Given the description of an element on the screen output the (x, y) to click on. 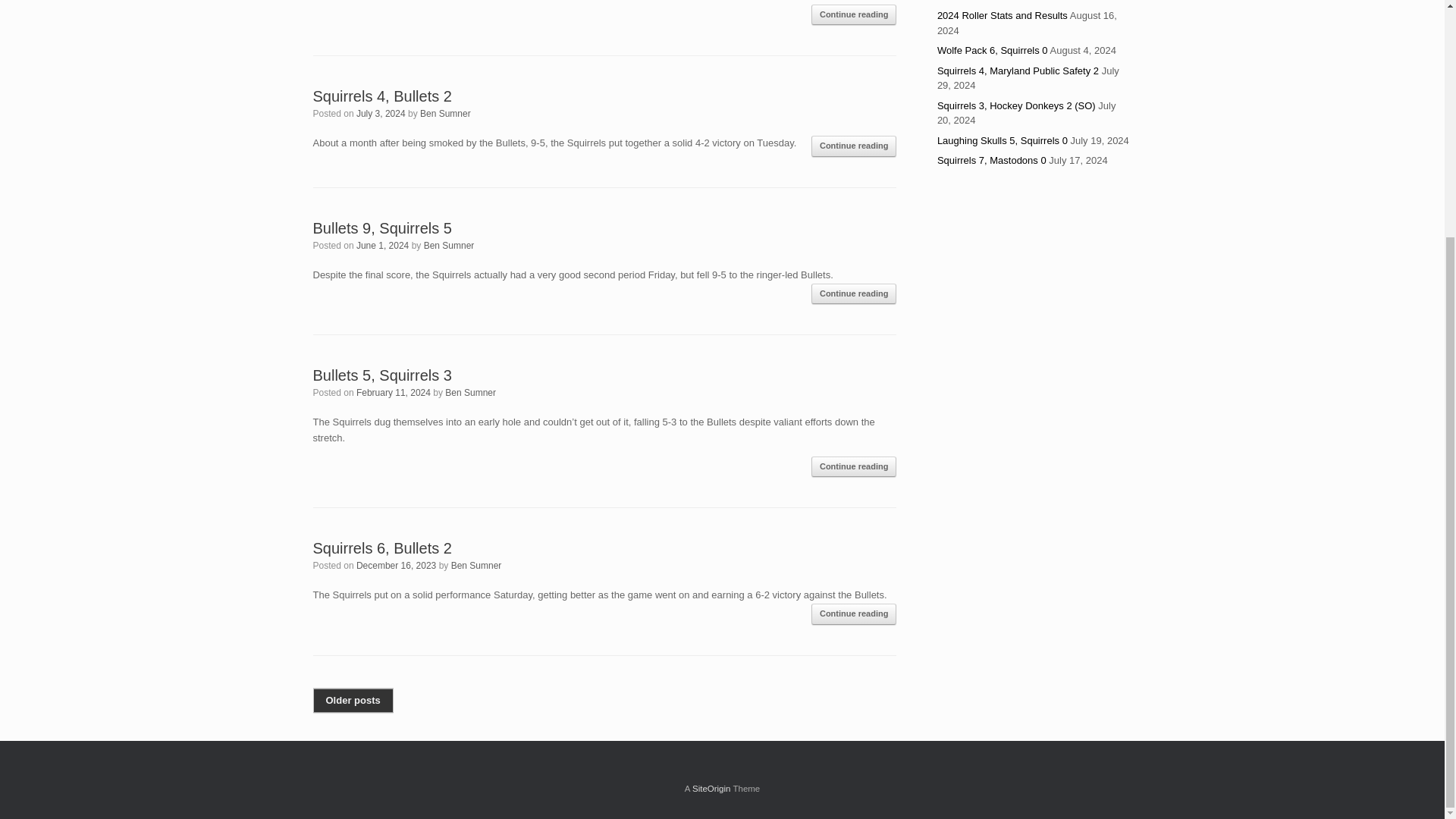
View all posts by Ben Sumner (448, 245)
Ben Sumner (476, 565)
Wolfe Pack 6, Squirrels 0 (992, 50)
Permalink to Squirrels 4, Bullets 2 (382, 95)
1:08 am (381, 113)
Squirrels 6, Bullets 2 (382, 547)
Continue reading (853, 613)
Older posts (353, 700)
View all posts by Ben Sumner (445, 113)
Continue reading (853, 14)
